Given the description of an element on the screen output the (x, y) to click on. 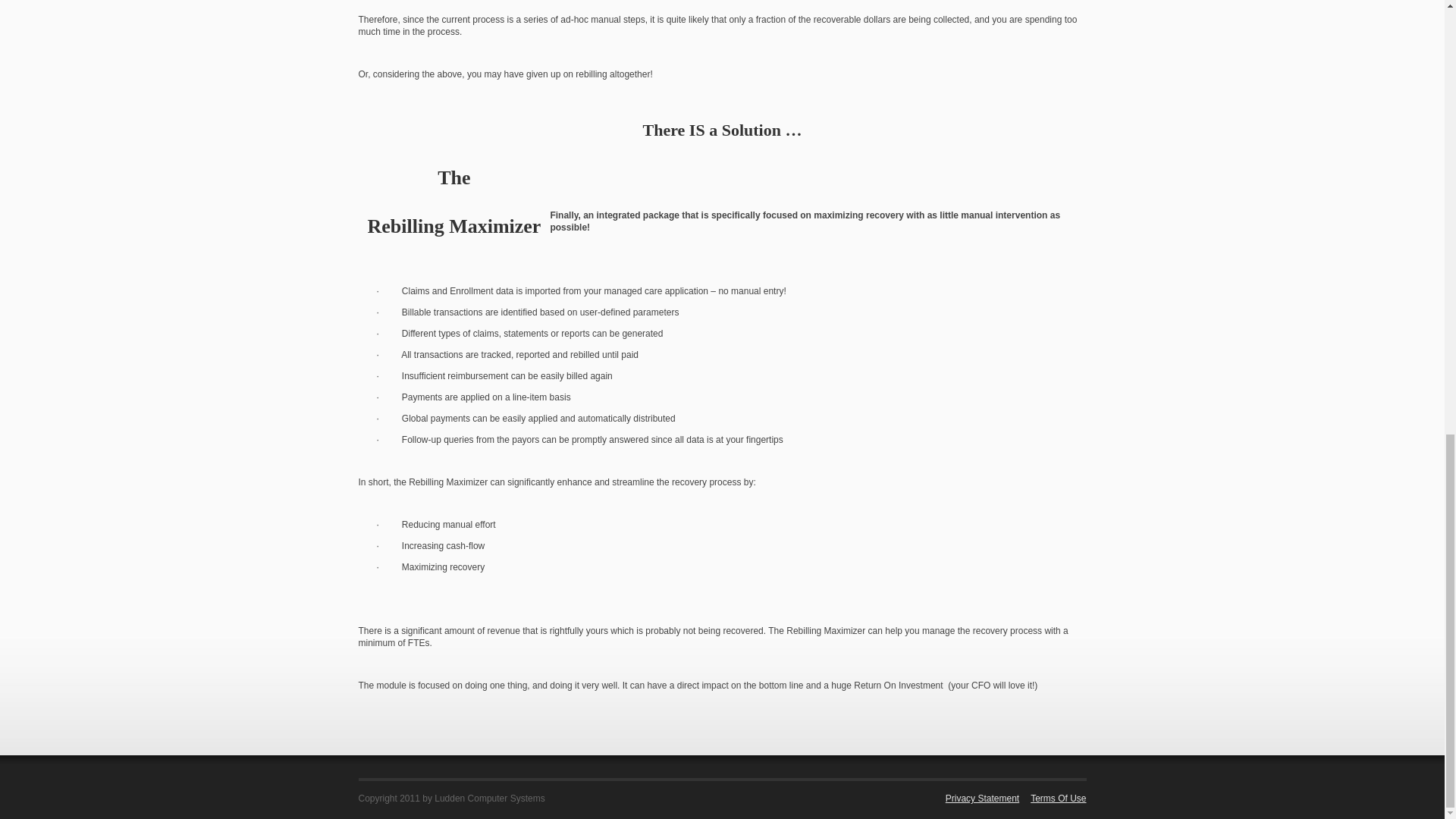
Privacy Statement (976, 798)
Terms Of Use (1052, 798)
